Given the description of an element on the screen output the (x, y) to click on. 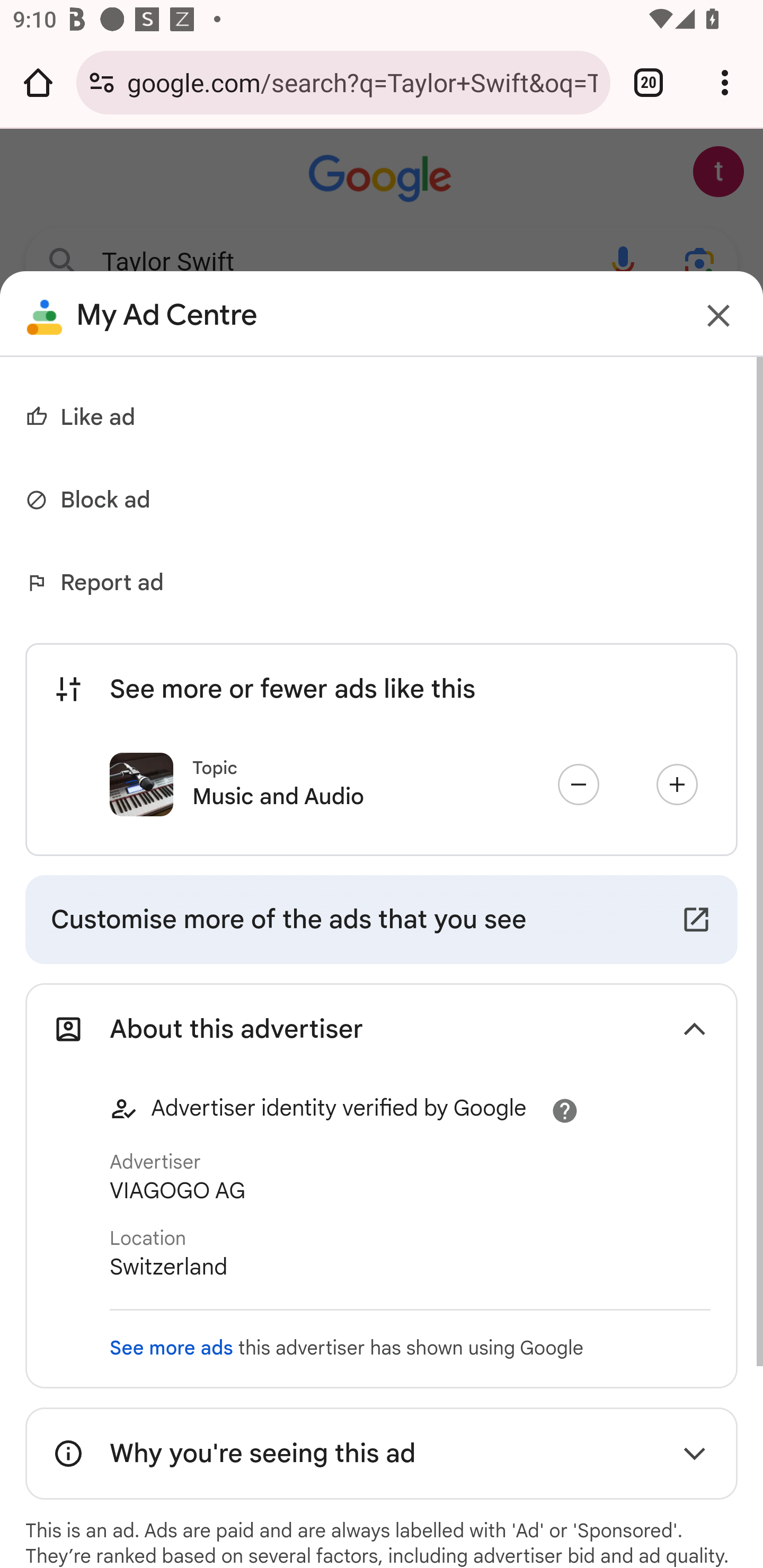
Open the home page (38, 82)
Connection is secure (101, 82)
Switch or close tabs (648, 82)
Customize and control Google Chrome (724, 82)
